Given the description of an element on the screen output the (x, y) to click on. 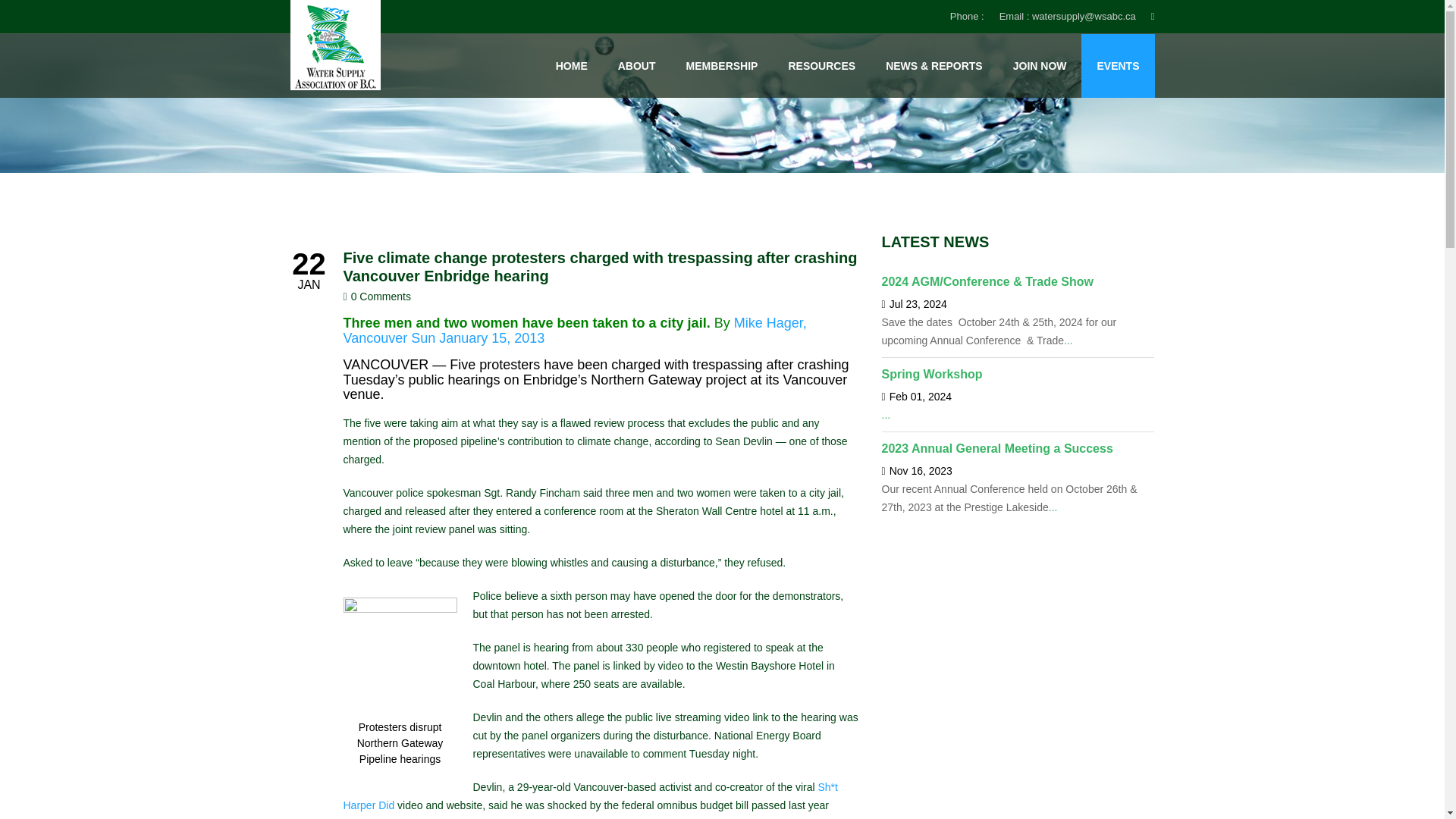
MEMBERSHIP (721, 65)
0 Comments (380, 296)
RESOURCES (821, 65)
Spring Workshop (930, 373)
Mike Hager, Vancouver Sun January 15, 2013 (574, 330)
pipeline (399, 654)
EVENTS (1117, 65)
JOIN NOW (1040, 65)
comment (380, 296)
2023 Annual General Meeting a Success (996, 448)
Source: Vancouver Sun (574, 330)
ABOUT (636, 65)
HOME (572, 65)
